Given the description of an element on the screen output the (x, y) to click on. 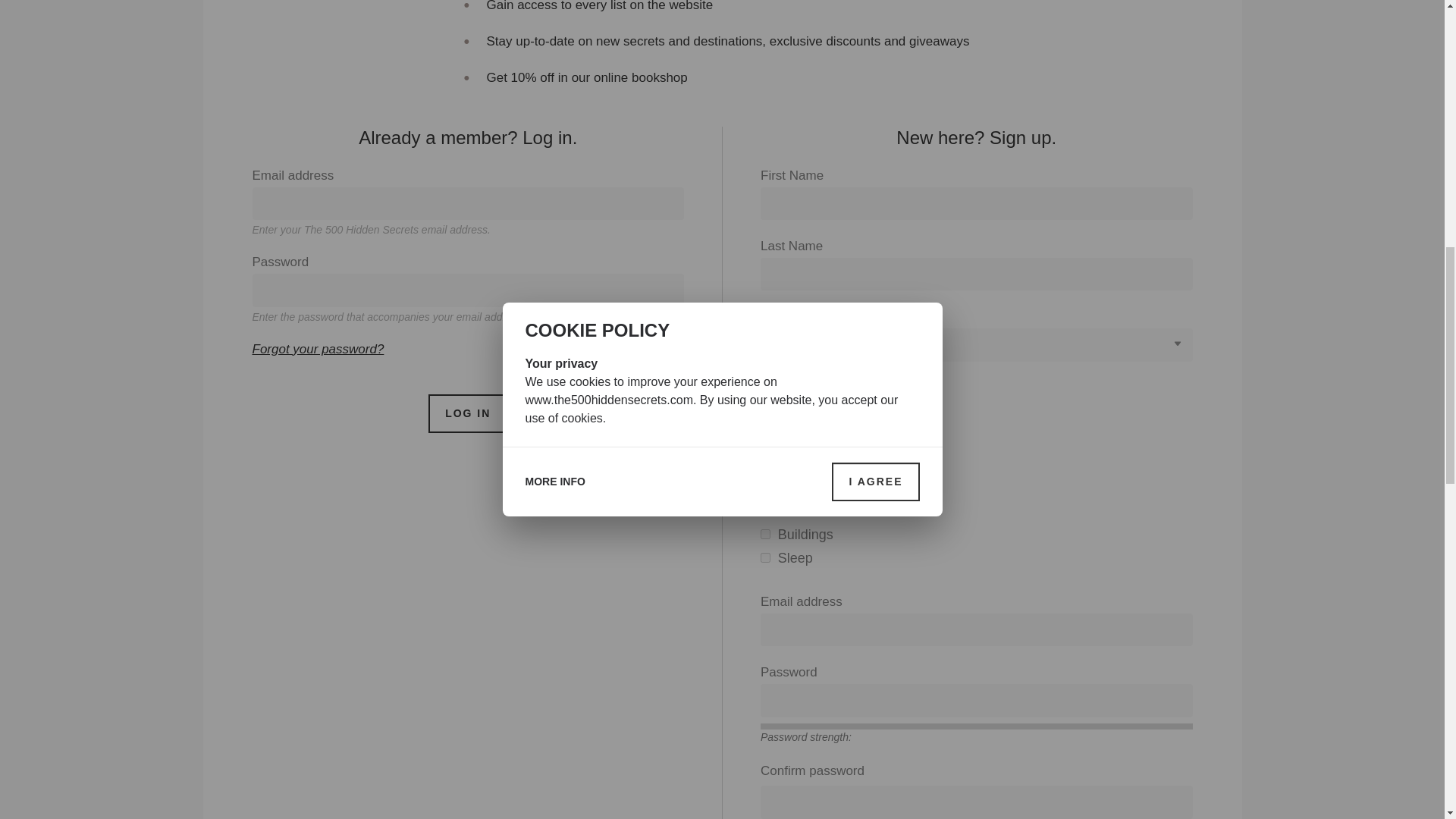
7 (765, 440)
Log in (467, 413)
5 (765, 418)
Log in (467, 413)
11 (765, 557)
8 (765, 464)
10 (765, 488)
6 (765, 510)
9 (765, 533)
Forgot your password? (317, 349)
